Given the description of an element on the screen output the (x, y) to click on. 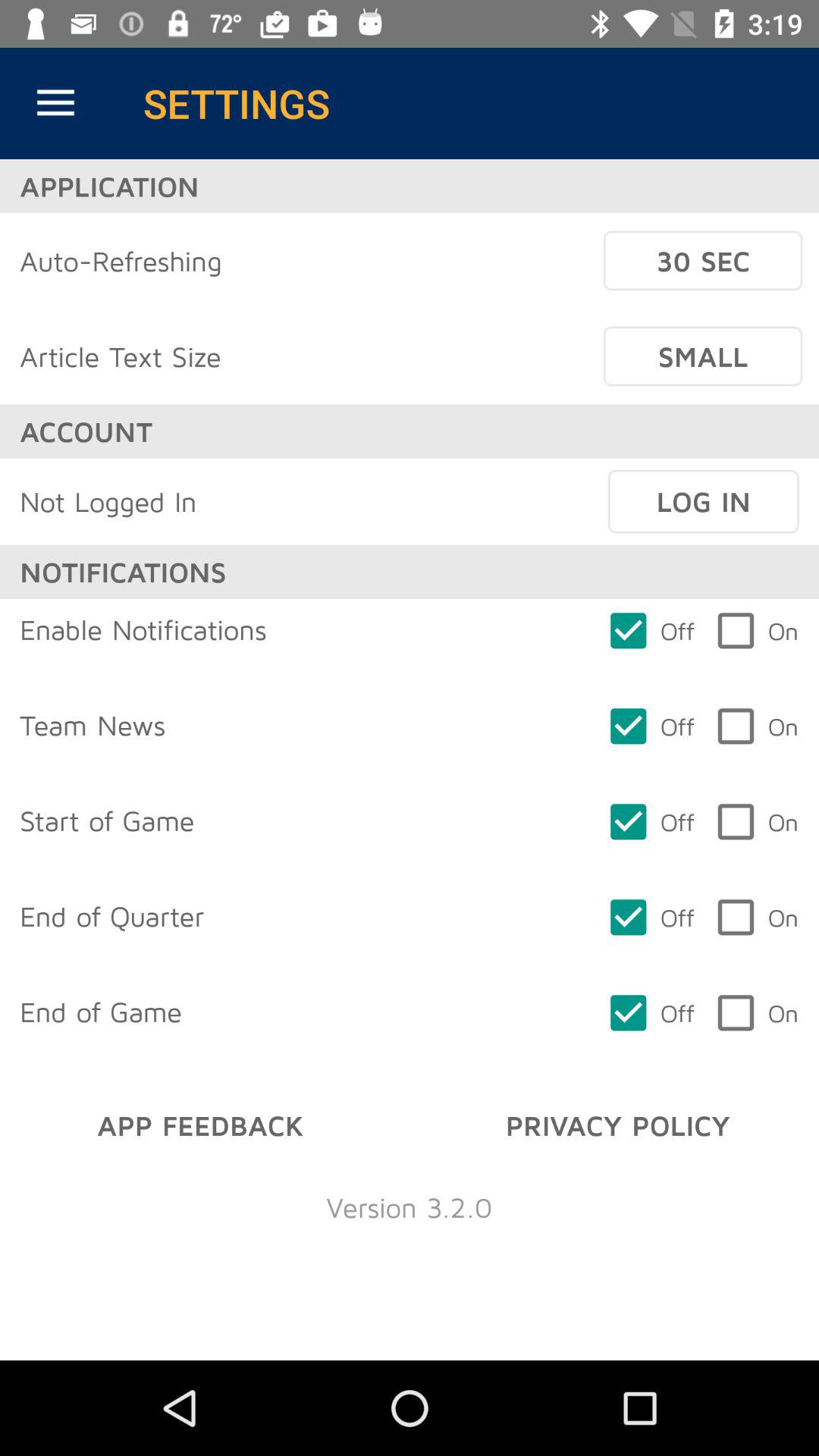
turn on item next to the settings item (55, 103)
